Given the description of an element on the screen output the (x, y) to click on. 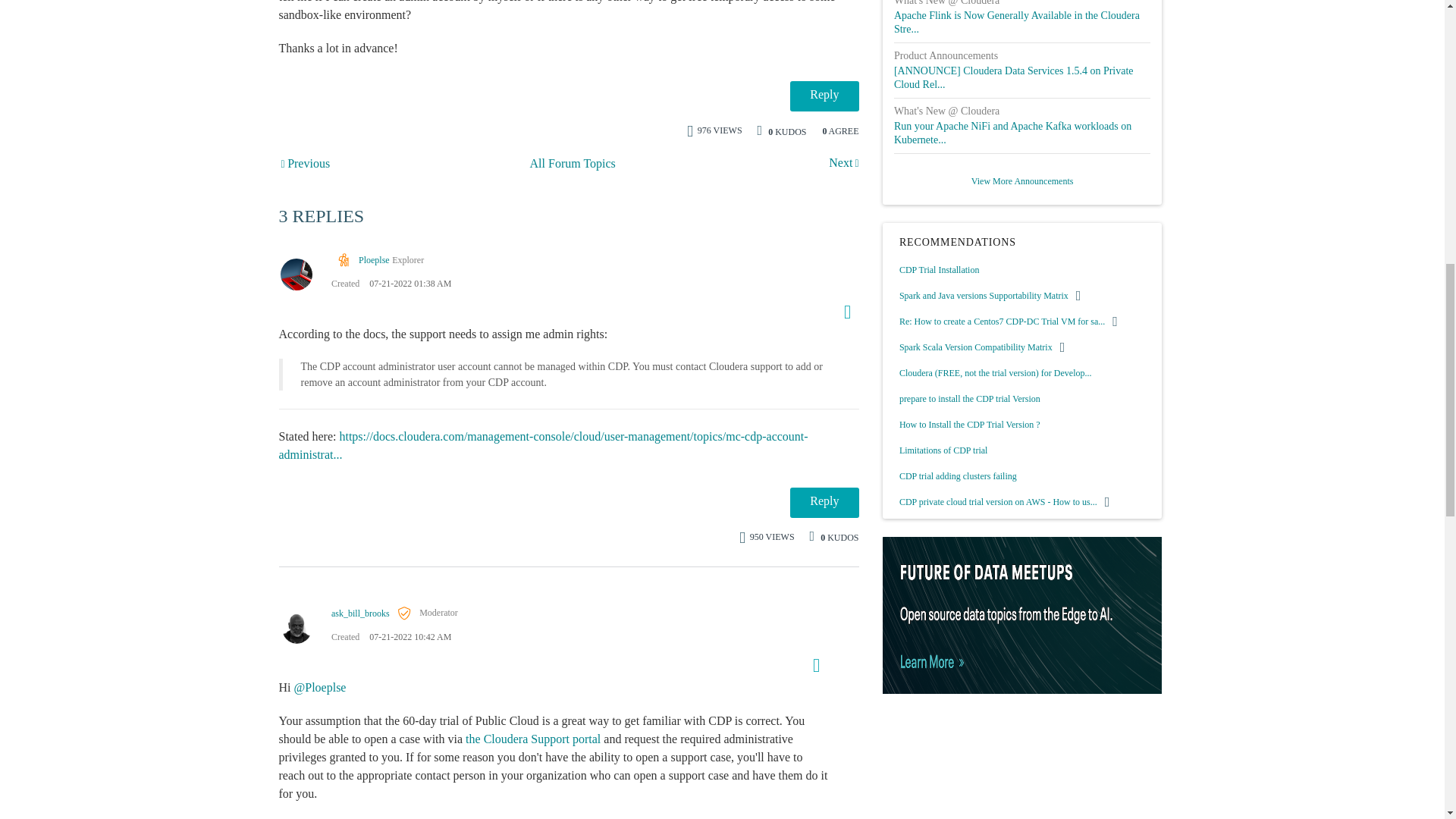
Upgrade RHEL 7.7 to 7.9 (306, 163)
Support Questions (572, 163)
The total number of kudos this post has received. (787, 129)
